Given the description of an element on the screen output the (x, y) to click on. 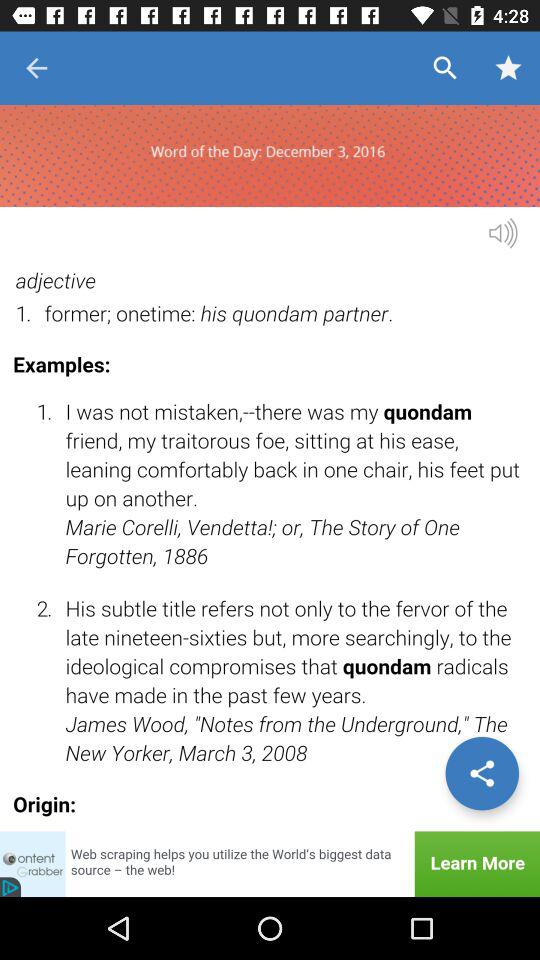
share (482, 773)
